Given the description of an element on the screen output the (x, y) to click on. 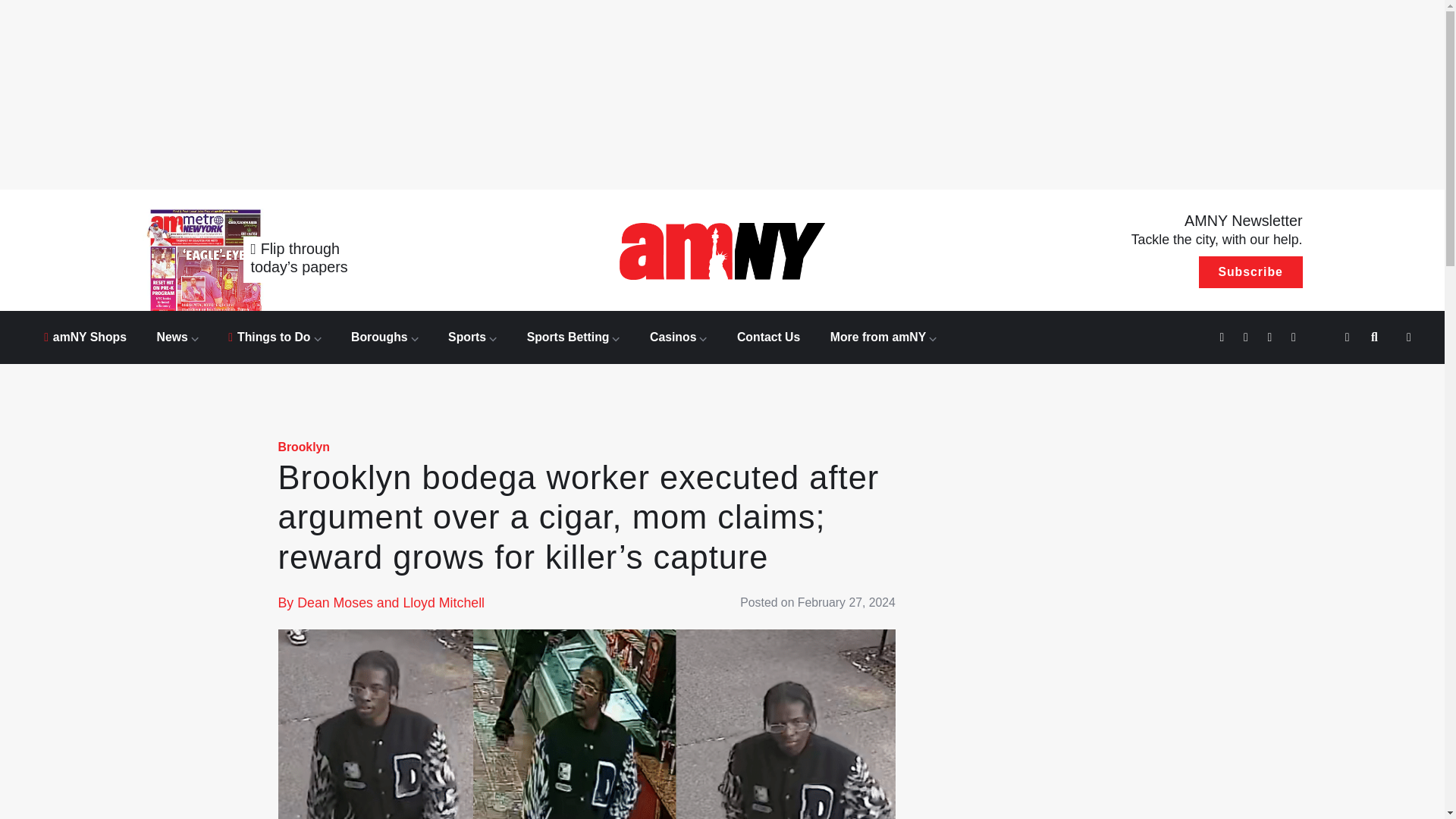
amNY Shops (84, 336)
News (176, 336)
Sports (472, 336)
Subscribe (1250, 272)
Things to Do (274, 336)
Boroughs (384, 336)
